Given the description of an element on the screen output the (x, y) to click on. 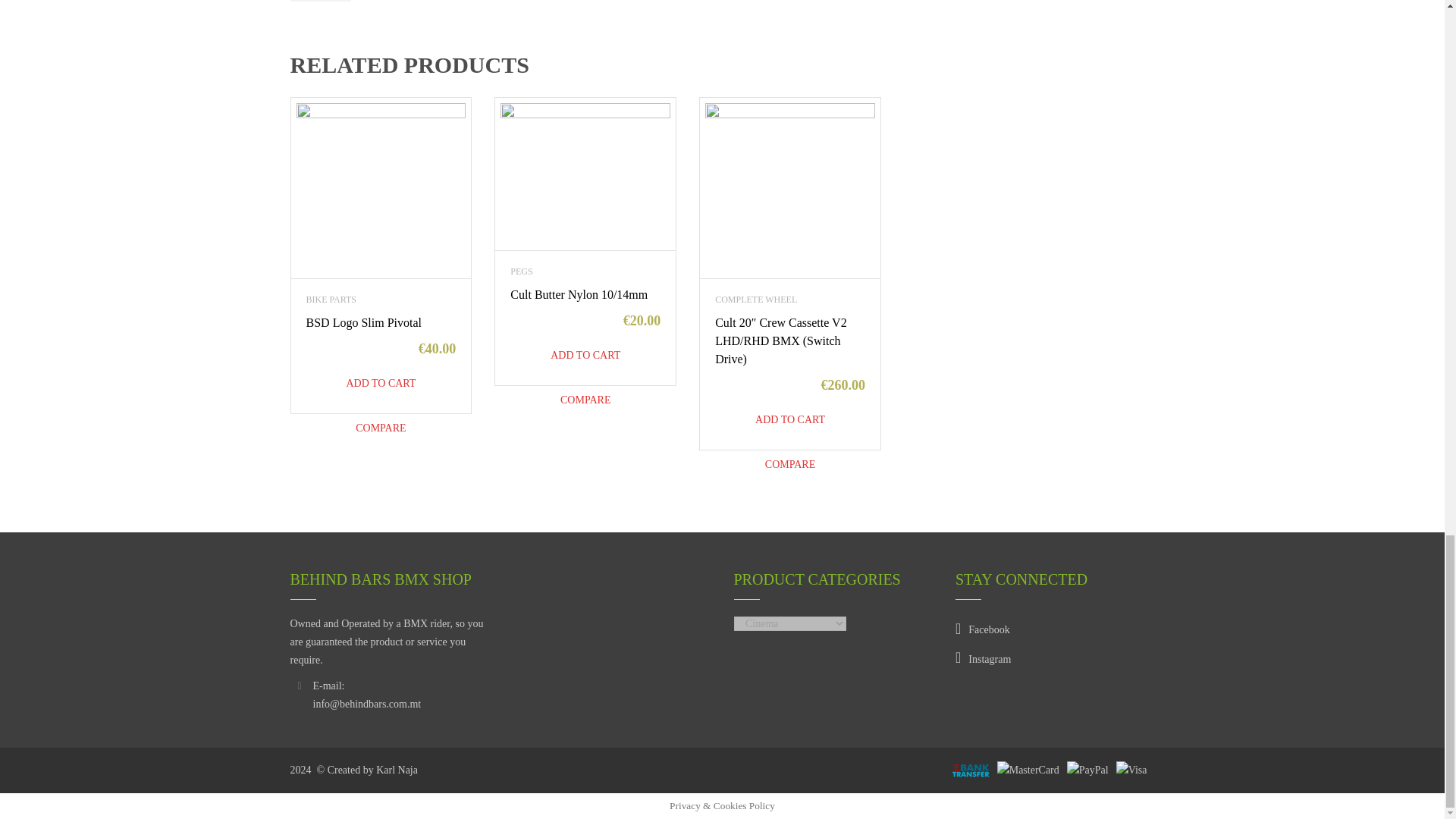
Submit (319, 0)
